Given the description of an element on the screen output the (x, y) to click on. 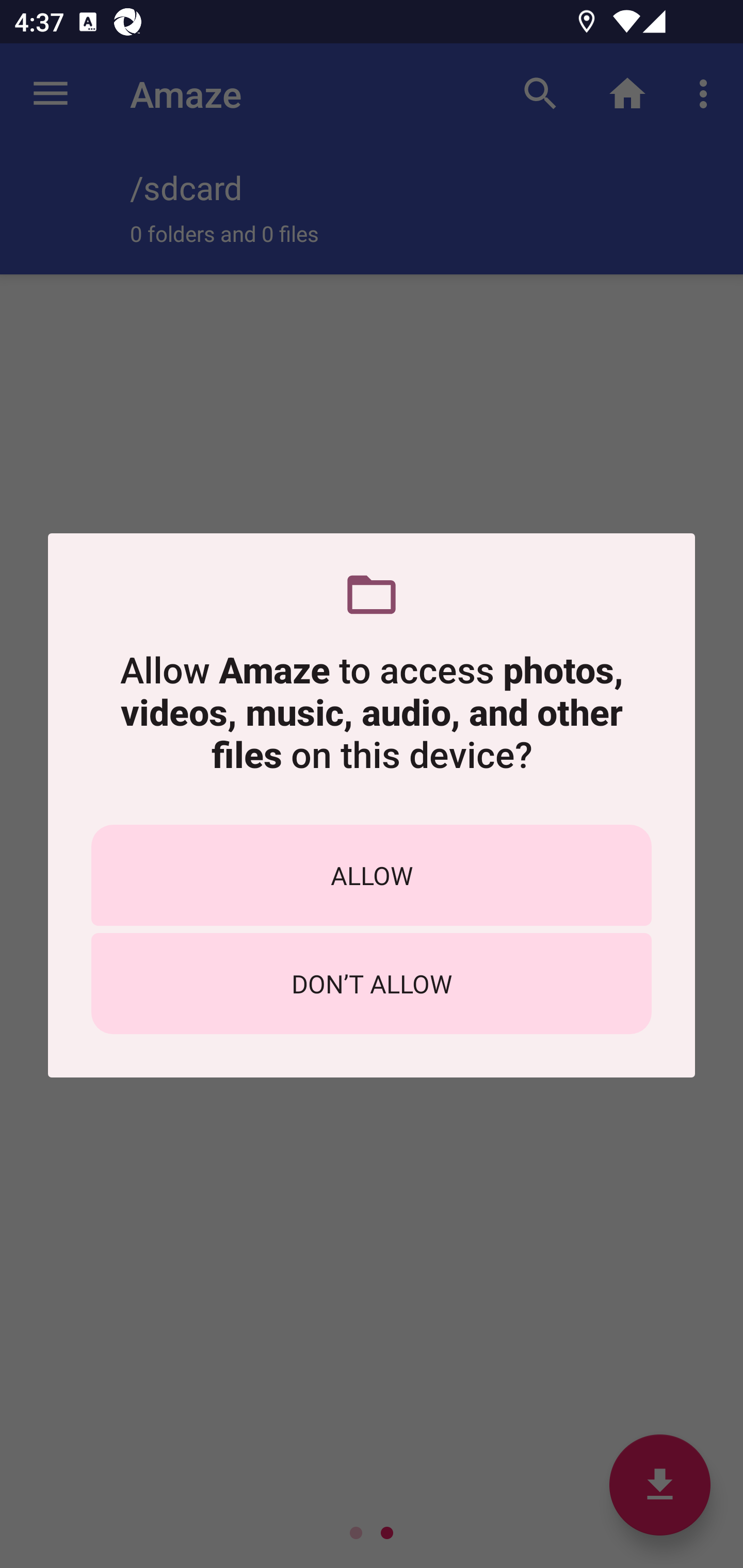
ALLOW (371, 874)
DON’T ALLOW (371, 983)
